Given the description of an element on the screen output the (x, y) to click on. 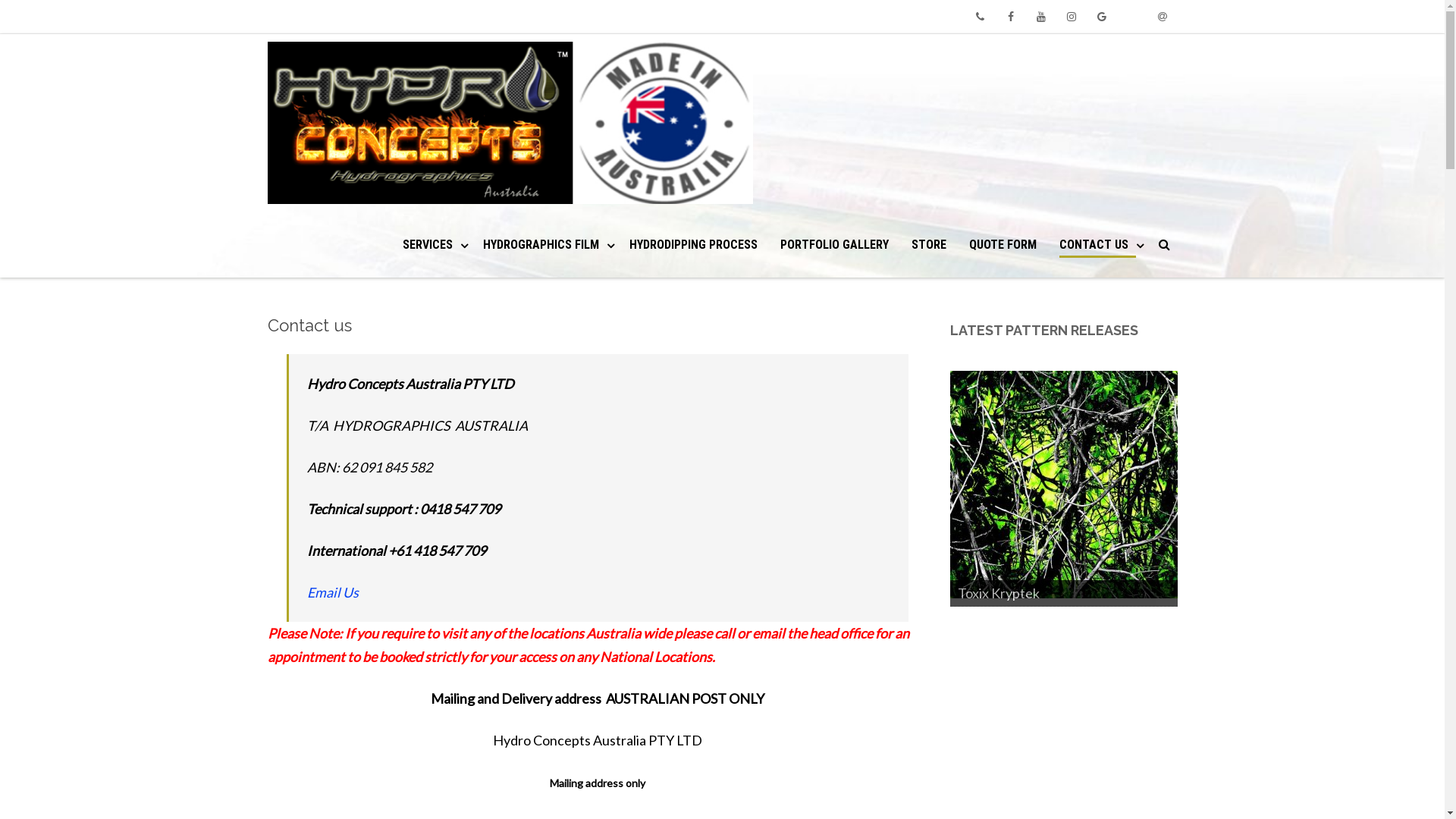
Hydro Concepts Australia Hydrographics Element type: hover (512, 122)
PORTFOLIO GALLERY Element type: text (833, 244)
HYDROGRAPHICS FILM Element type: text (543, 244)
Moon-Shine-Toxic HCAR1605 Element type: hover (1062, 484)
Email Us Element type: text (331, 591)
CONTACT US Element type: text (1096, 247)
Facebook Element type: hover (1009, 16)
STORE Element type: text (928, 244)
HYDRODIPPING PROCESS Element type: text (693, 244)
Email Element type: hover (1161, 16)
Google Element type: hover (1100, 16)
Blogger Element type: hover (1131, 16)
QUOTE FORM Element type: text (1002, 244)
Youtube Element type: hover (1040, 16)
Phone Element type: hover (979, 16)
Instagram Element type: hover (1070, 16)
SERVICES Element type: text (430, 244)
